Given the description of an element on the screen output the (x, y) to click on. 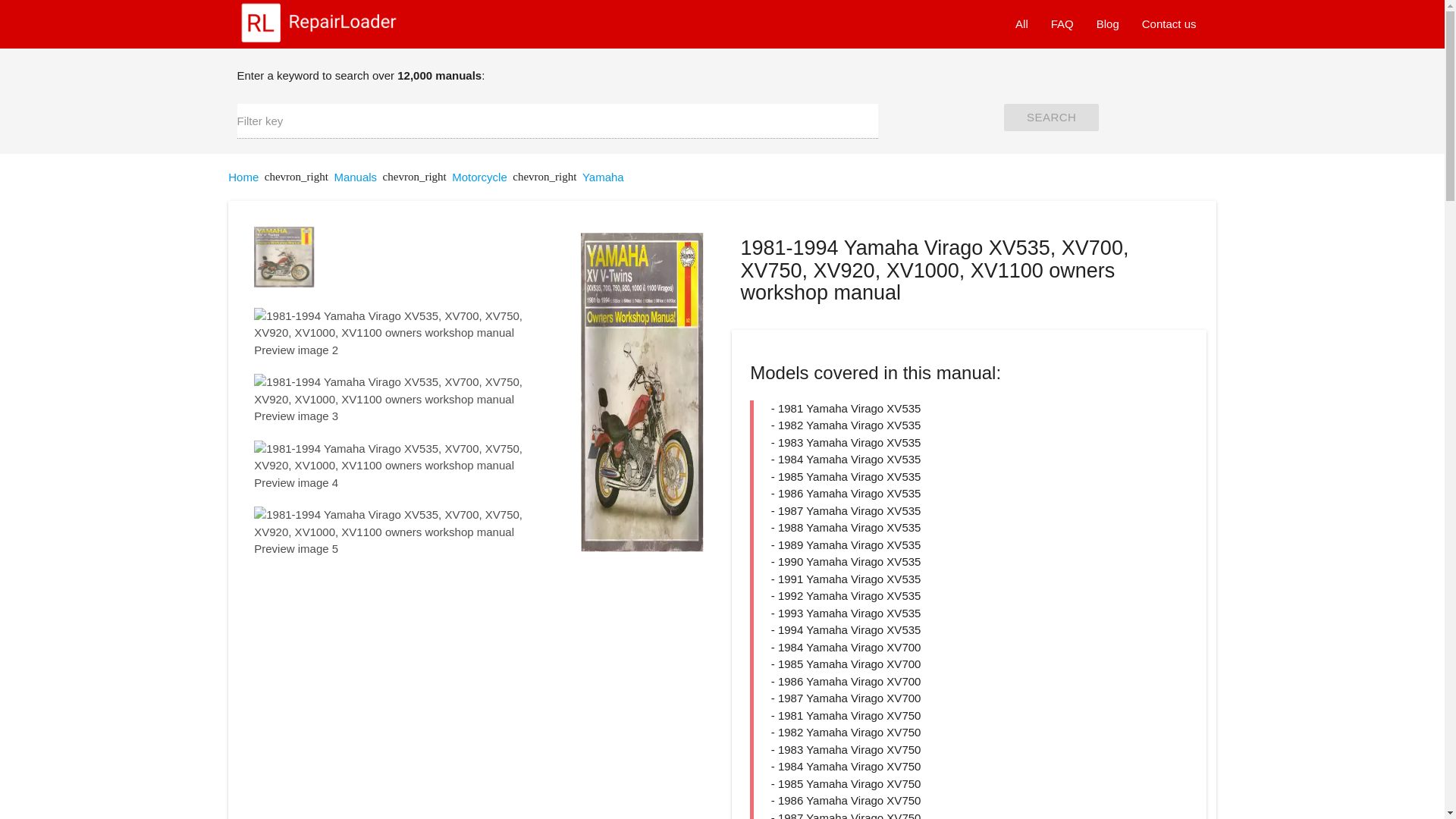
Blog (1107, 24)
Yamaha (603, 176)
Motorcycle (478, 176)
Home (243, 176)
Contact us (1169, 24)
SEARCH (1051, 116)
Manuals (355, 176)
FAQ (1061, 24)
SEARCH (1051, 116)
